Given the description of an element on the screen output the (x, y) to click on. 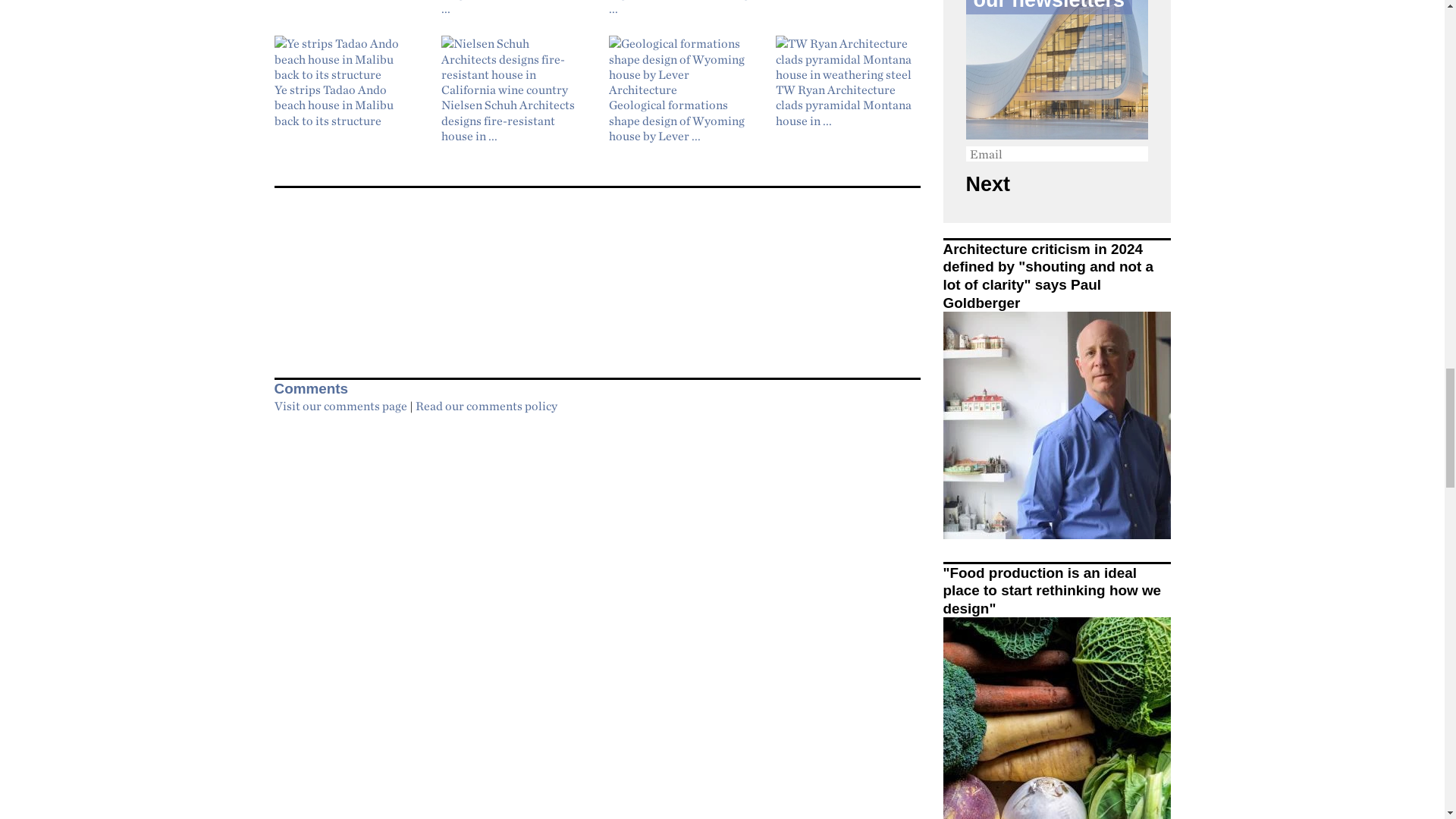
3rd party ad content (597, 274)
Next (1004, 183)
